Given the description of an element on the screen output the (x, y) to click on. 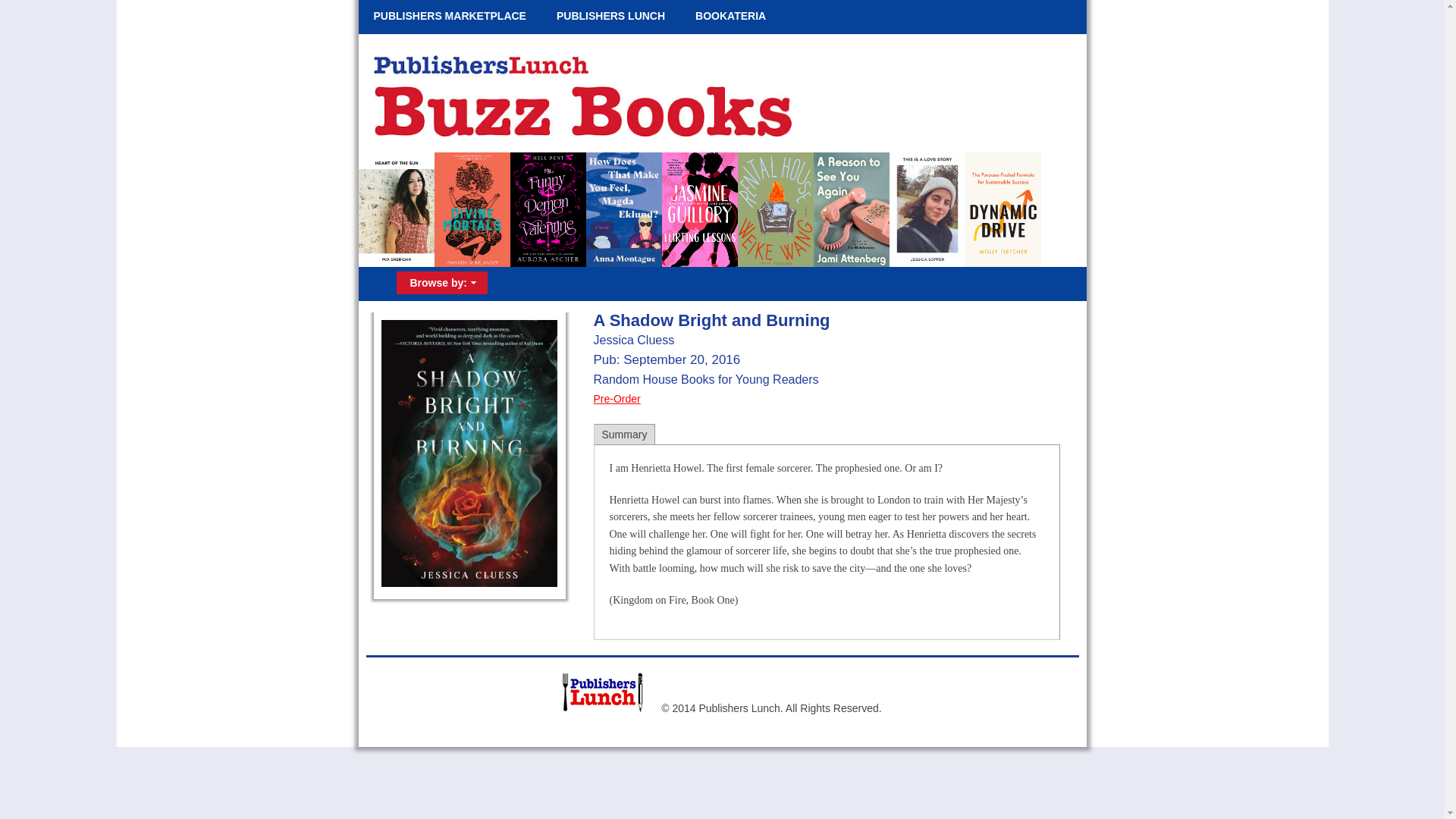
Summary (624, 434)
PUBLISHERS MARKETPLACE (449, 16)
BOOKATERIA (729, 16)
Buzz Books (577, 132)
Pre-Order (616, 398)
Browse by: (440, 282)
PUBLISHERS LUNCH (610, 16)
